Given the description of an element on the screen output the (x, y) to click on. 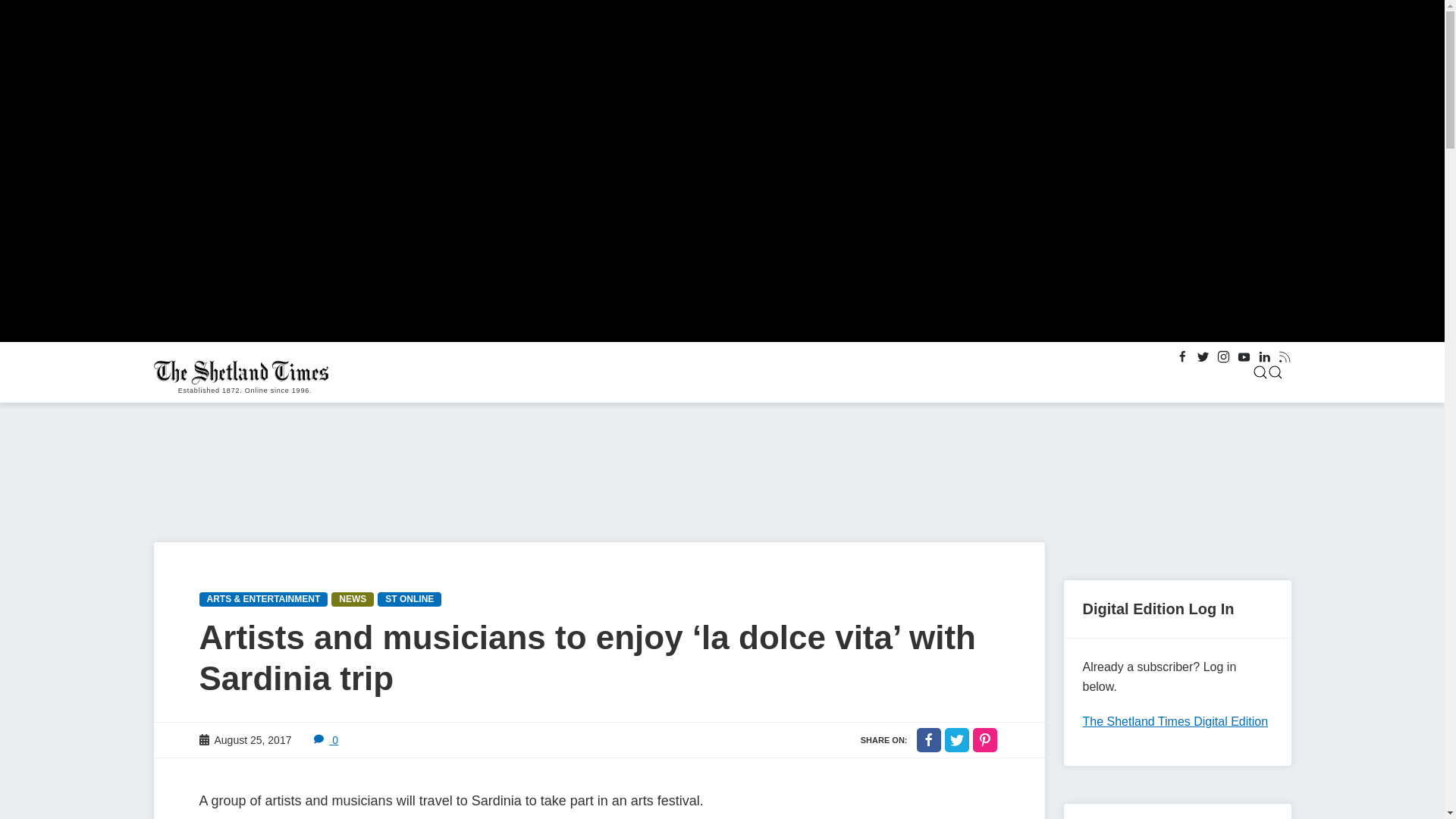
NEWS (352, 599)
ST ONLINE (409, 599)
Established 1872. Online since 1996. (244, 372)
0 (325, 739)
